Given the description of an element on the screen output the (x, y) to click on. 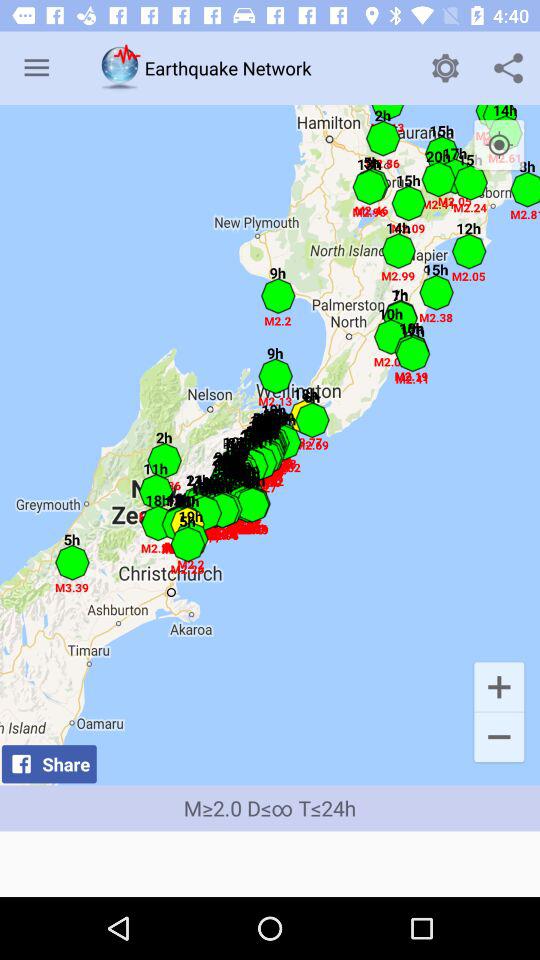
select the icon to the right of share item (498, 738)
